Given the description of an element on the screen output the (x, y) to click on. 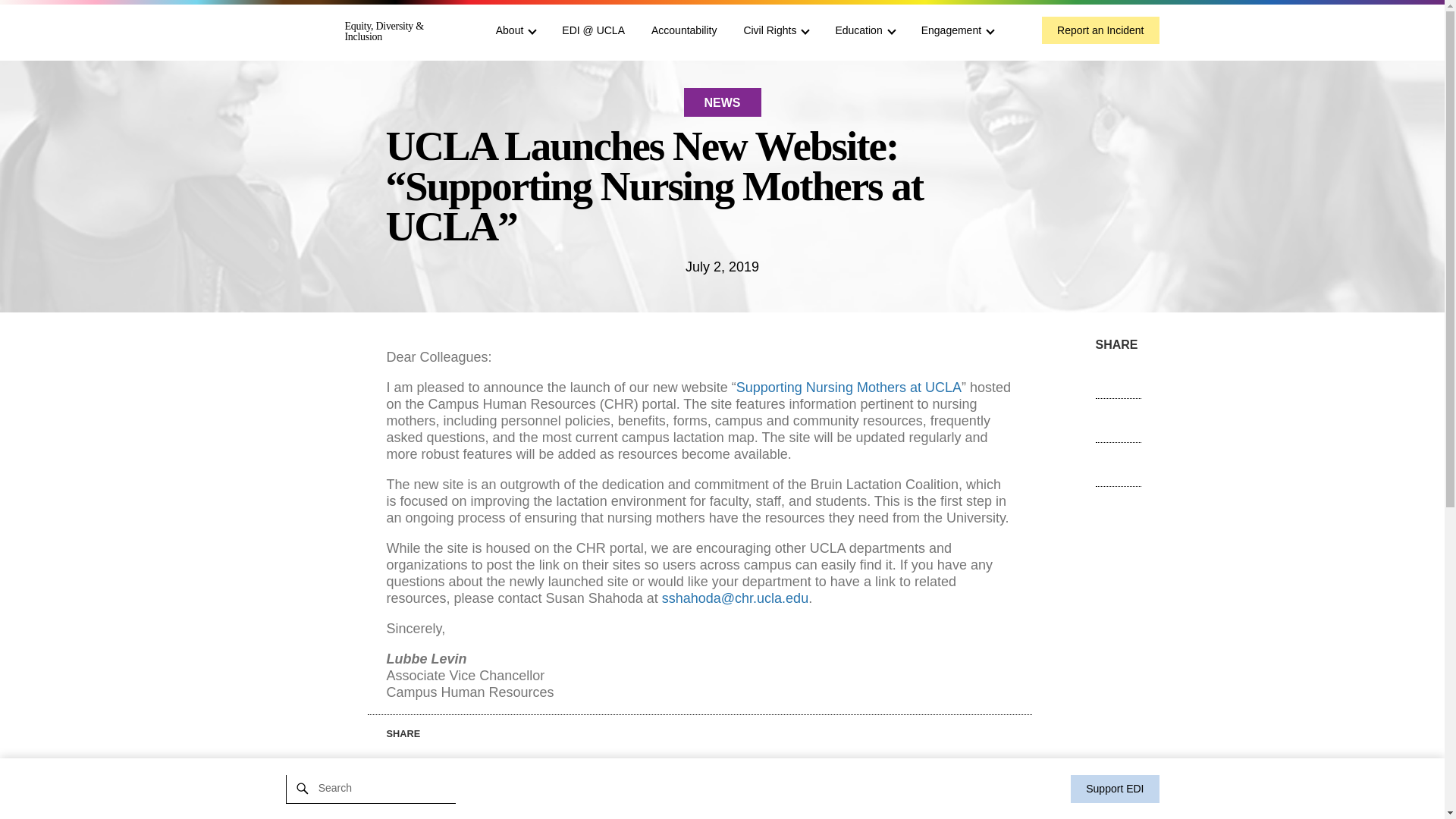
About (515, 29)
Search for: (368, 787)
Education (864, 29)
Accountability (683, 29)
Civil Rights (775, 29)
Engagement (957, 29)
